Given the description of an element on the screen output the (x, y) to click on. 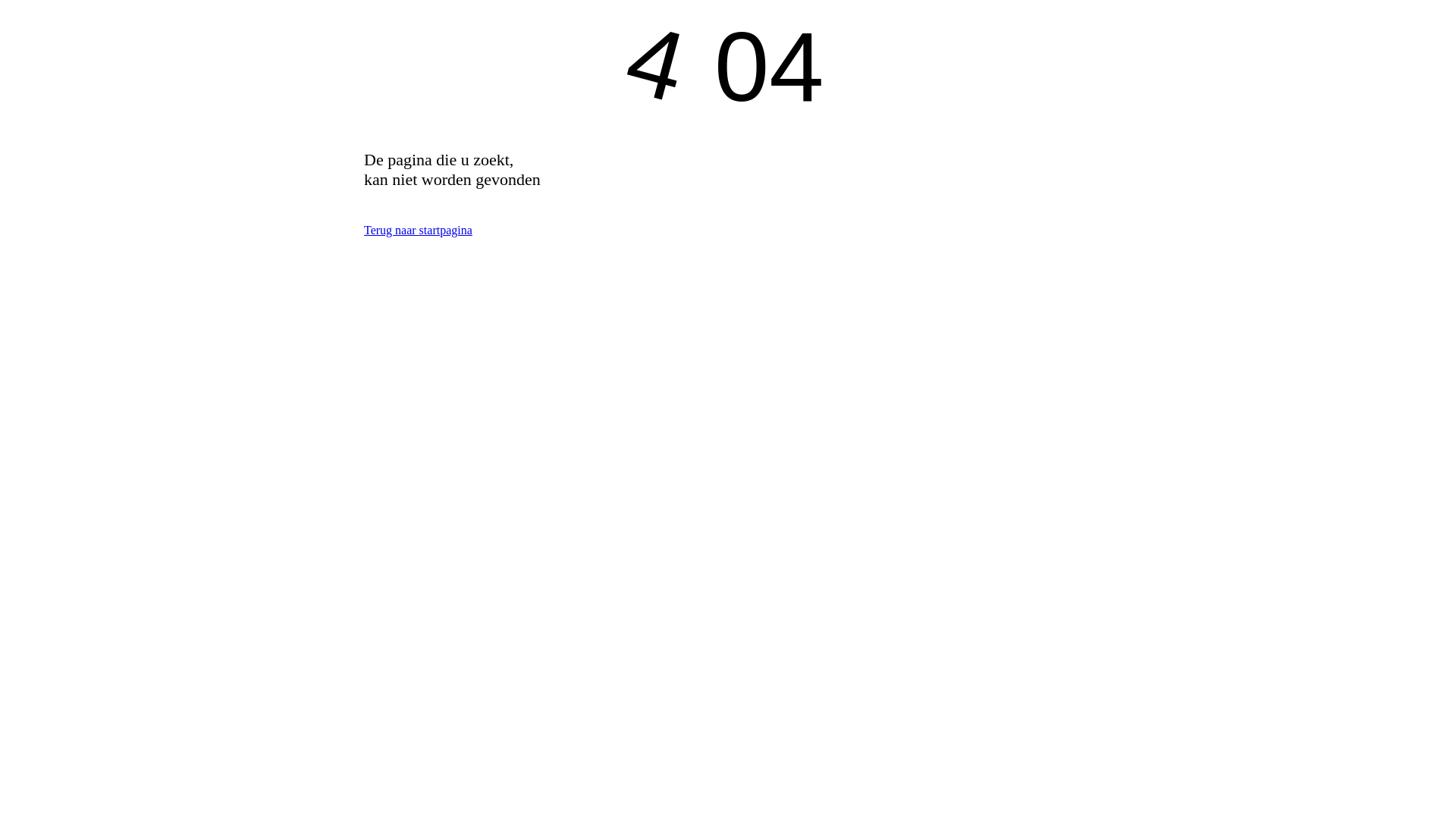
Terug naar startpagina Element type: text (418, 229)
